Given the description of an element on the screen output the (x, y) to click on. 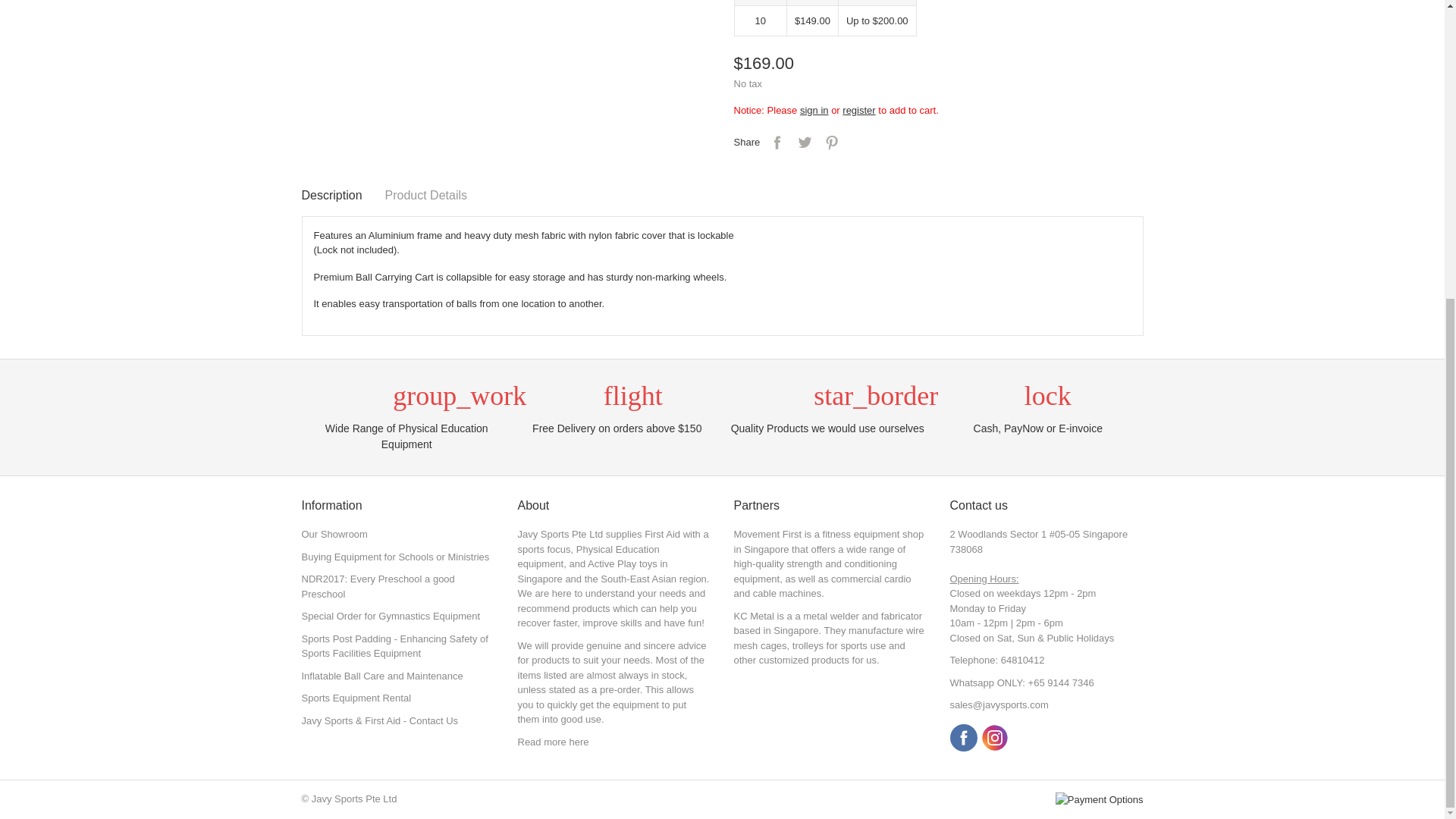
Tweet (803, 142)
Share1 (777, 142)
Pinterest (831, 142)
